Given the description of an element on the screen output the (x, y) to click on. 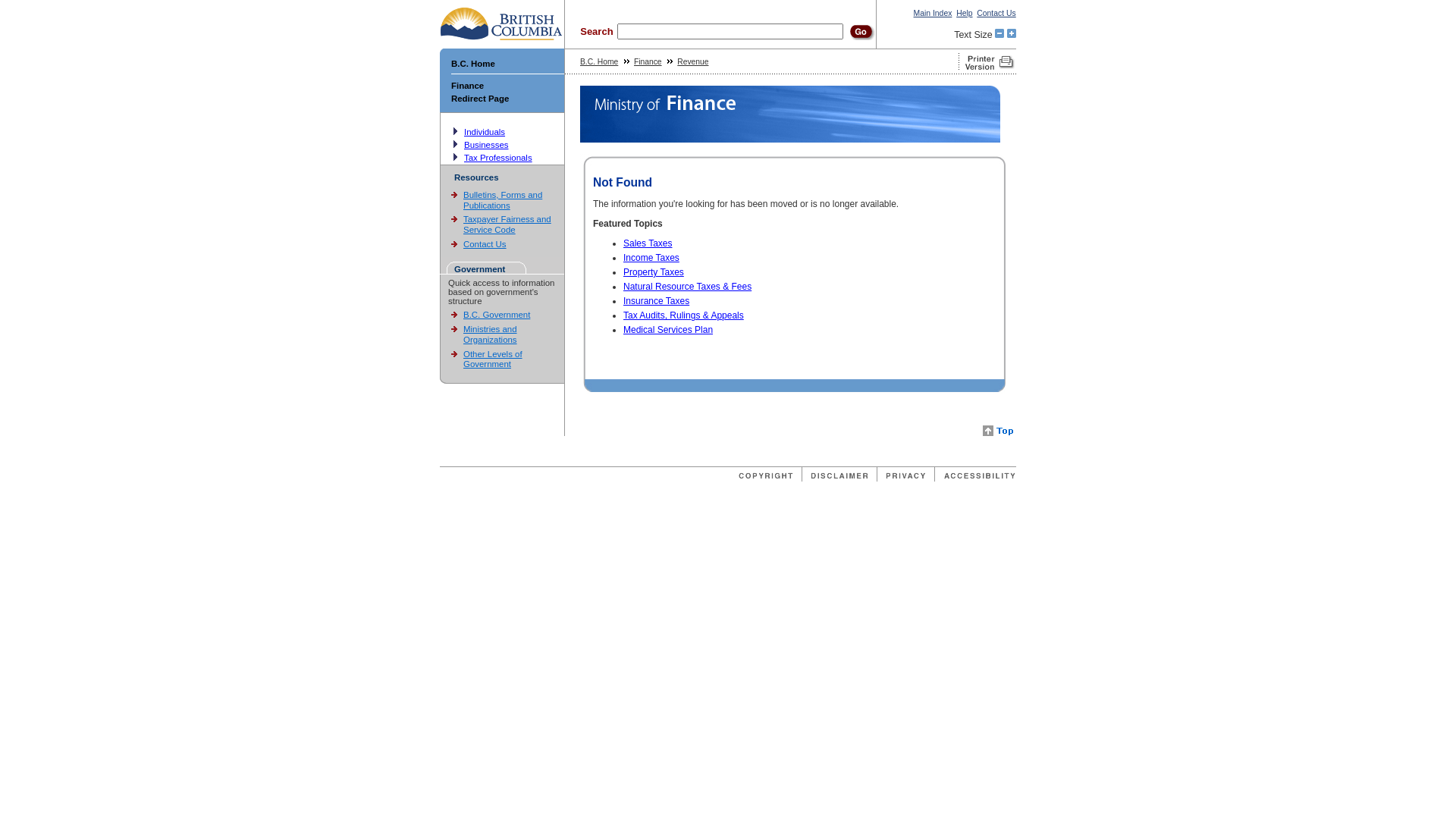
Individuals Element type: text (484, 131)
Businesses Element type: text (486, 144)
Finance Element type: text (467, 85)
Income Taxes Element type: text (651, 257)
Revenue Element type: text (692, 61)
Property Taxes Element type: text (653, 271)
Taxpayer Fairness and Service Code Element type: text (507, 224)
Help Element type: text (964, 13)
Tax Professionals Element type: text (498, 157)
Other Levels of Government Element type: text (492, 359)
Insurance Taxes Element type: text (656, 300)
B.C. Home Element type: text (599, 61)
Bulletins, Forms and Publications Element type: text (502, 200)
Finance Element type: text (647, 61)
Redirect Page Element type: text (479, 98)
Natural Resource Taxes & Fees Element type: text (687, 286)
Ministries and Organizations Element type: text (490, 334)
Medical Services Plan Element type: text (667, 329)
B.C. Home Element type: text (473, 63)
Main Index Element type: text (932, 13)
Contact Us Element type: text (484, 243)
Sales Taxes Element type: text (647, 243)
Contact Us Element type: text (995, 13)
B.C. Government Element type: text (496, 314)
Tax Audits, Rulings & Appeals Element type: text (683, 315)
